Given the description of an element on the screen output the (x, y) to click on. 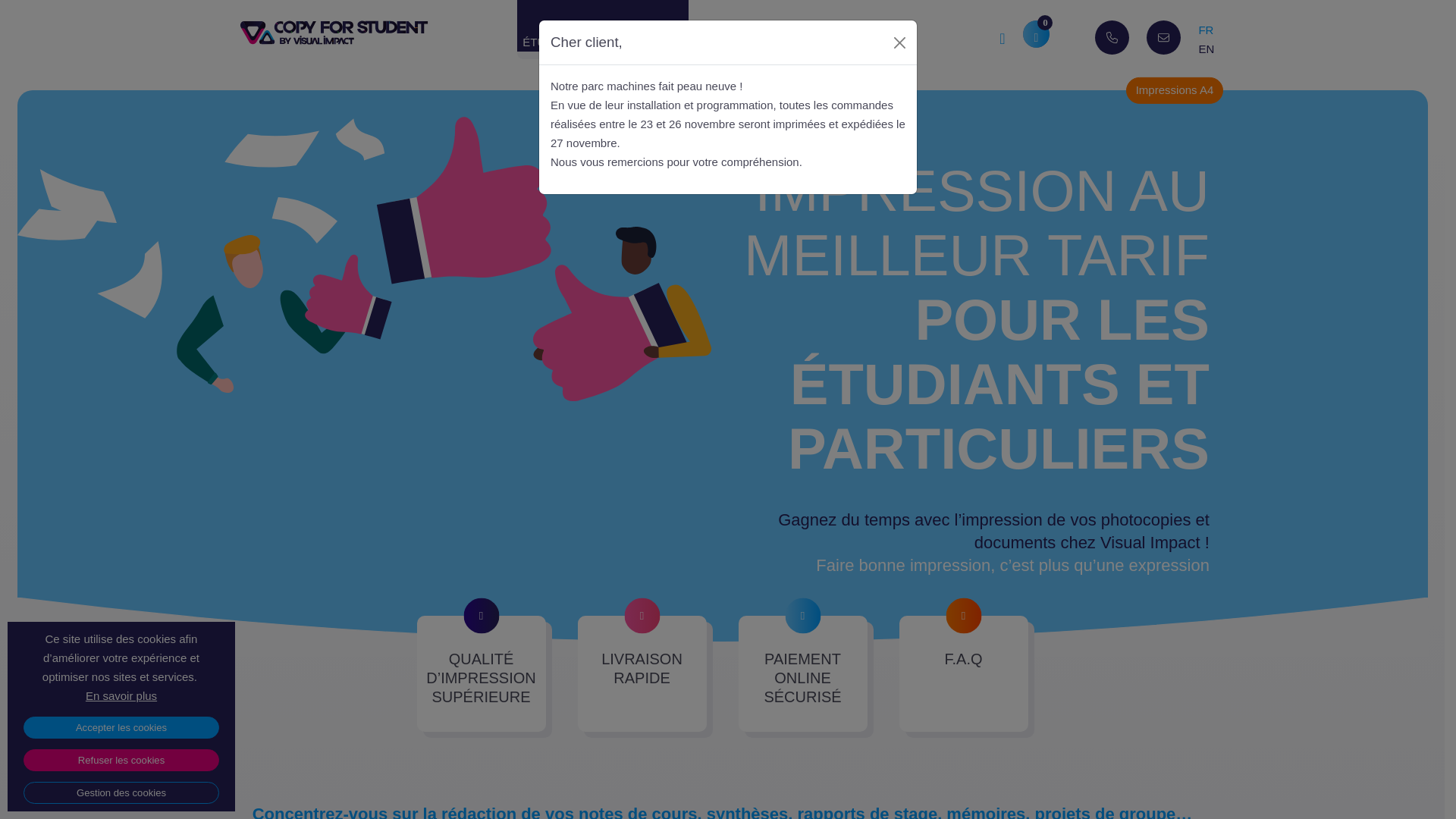
EN Element type: text (1206, 48)
PROFESSIONNELS Element type: text (769, 39)
Impressions A4 Element type: text (1174, 90)
Gestion des cookies Element type: text (121, 792)
Accepter les cookies Element type: text (121, 727)
F.A.Q Element type: text (963, 673)
Refuser les cookies Element type: text (121, 760)
En savoir plus Element type: text (120, 695)
FR Element type: text (1206, 29)
LIVRAISON RAPIDE Element type: text (641, 673)
AUTRES
PRODUITS Element type: text (884, 39)
